Given the description of an element on the screen output the (x, y) to click on. 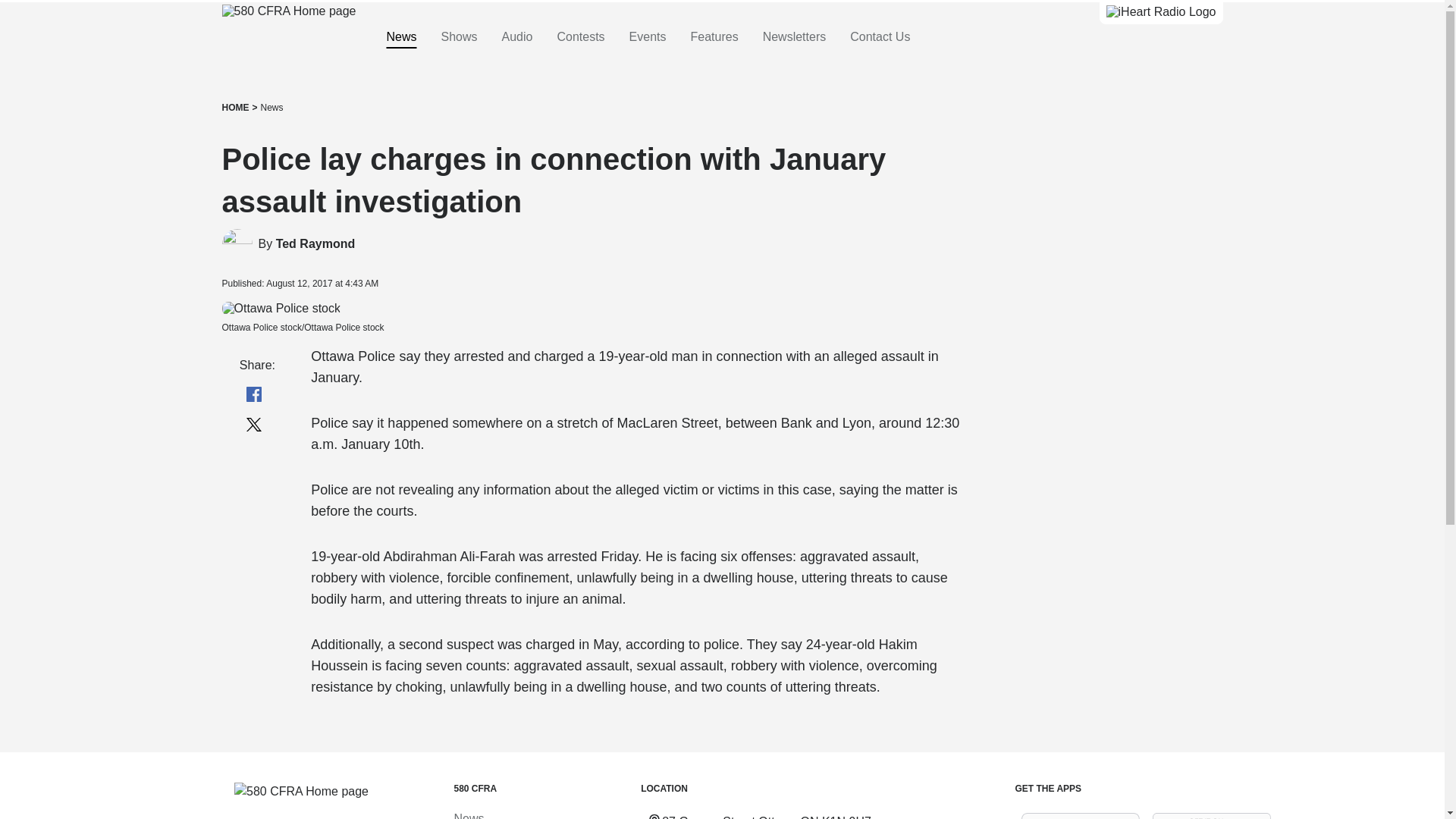
Newsletters (794, 37)
Download on the App Store (1080, 816)
Features (714, 37)
Ted Raymond (315, 243)
Contact Us (880, 37)
News (271, 107)
News (467, 815)
Contests (580, 37)
Get it on Google Play (1212, 816)
HOME (234, 107)
